Given the description of an element on the screen output the (x, y) to click on. 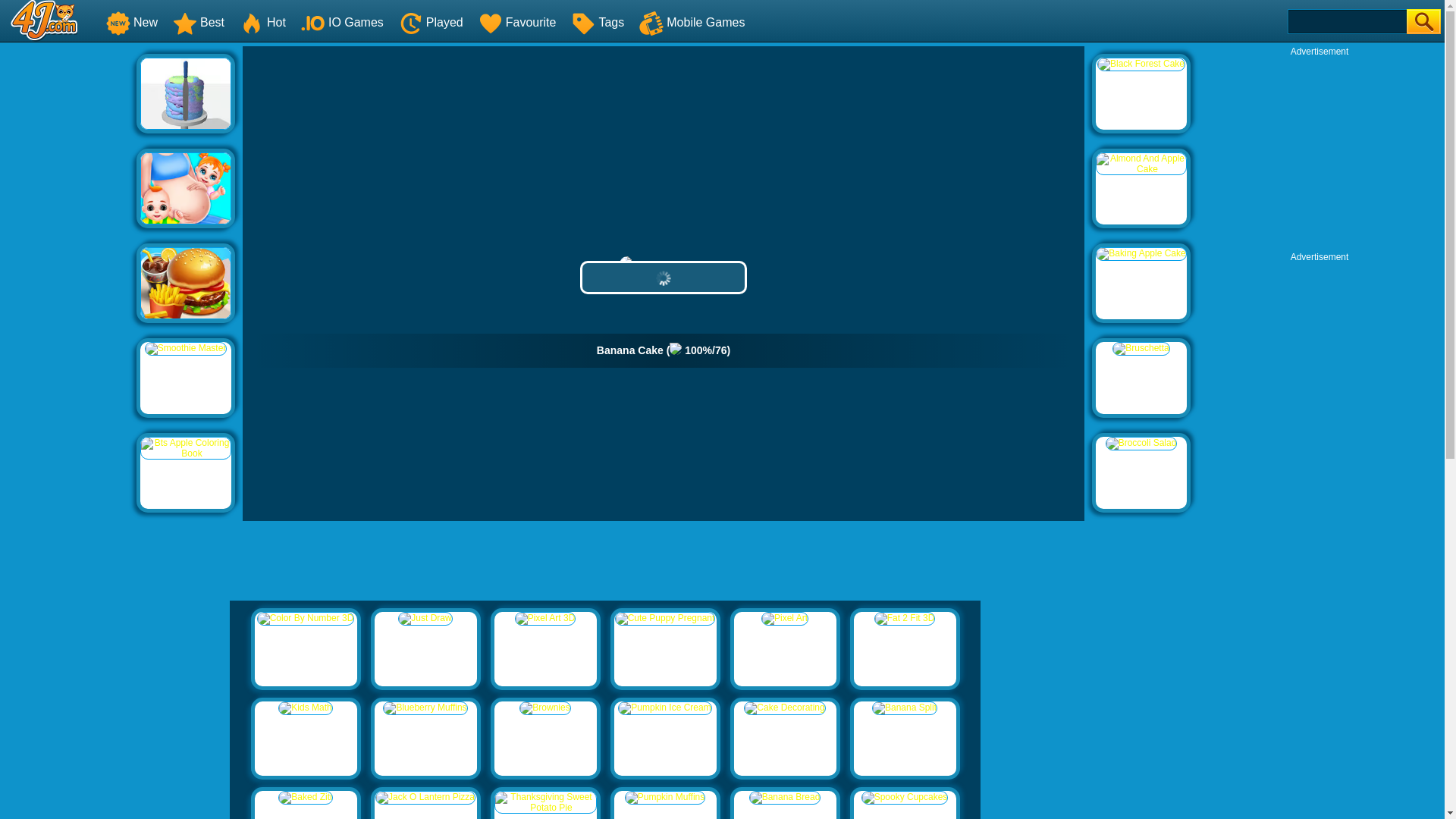
Tags (597, 21)
New (131, 21)
Best (198, 21)
Hot (262, 21)
Mobile Games (691, 21)
IO Games (342, 21)
Favourite (517, 21)
Played (430, 21)
